Given the description of an element on the screen output the (x, y) to click on. 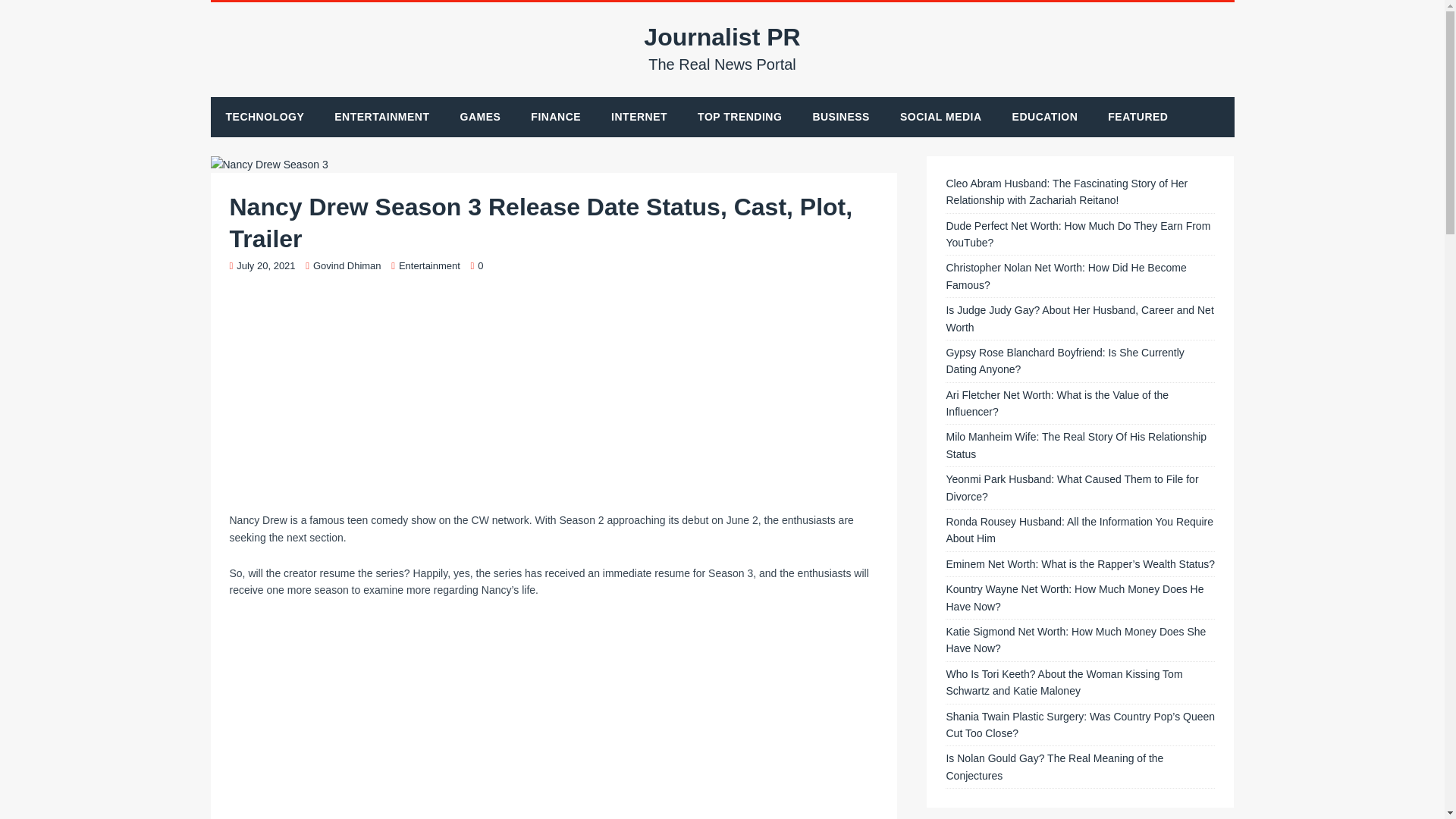
ENTERTAINMENT (381, 116)
TOP TRENDING (739, 116)
BUSINESS (722, 48)
Is Nolan Gould Gay? The Real Meaning of the Conjectures (840, 116)
Dude Perfect Net Worth: How Much Do They Earn From YouTube? (1053, 766)
Ari Fletcher Net Worth: What is the Value of the Influencer? (1076, 234)
Kountry Wayne Net Worth: How Much Money Does He Have Now? (1056, 403)
Advertisement (1074, 597)
